Given the description of an element on the screen output the (x, y) to click on. 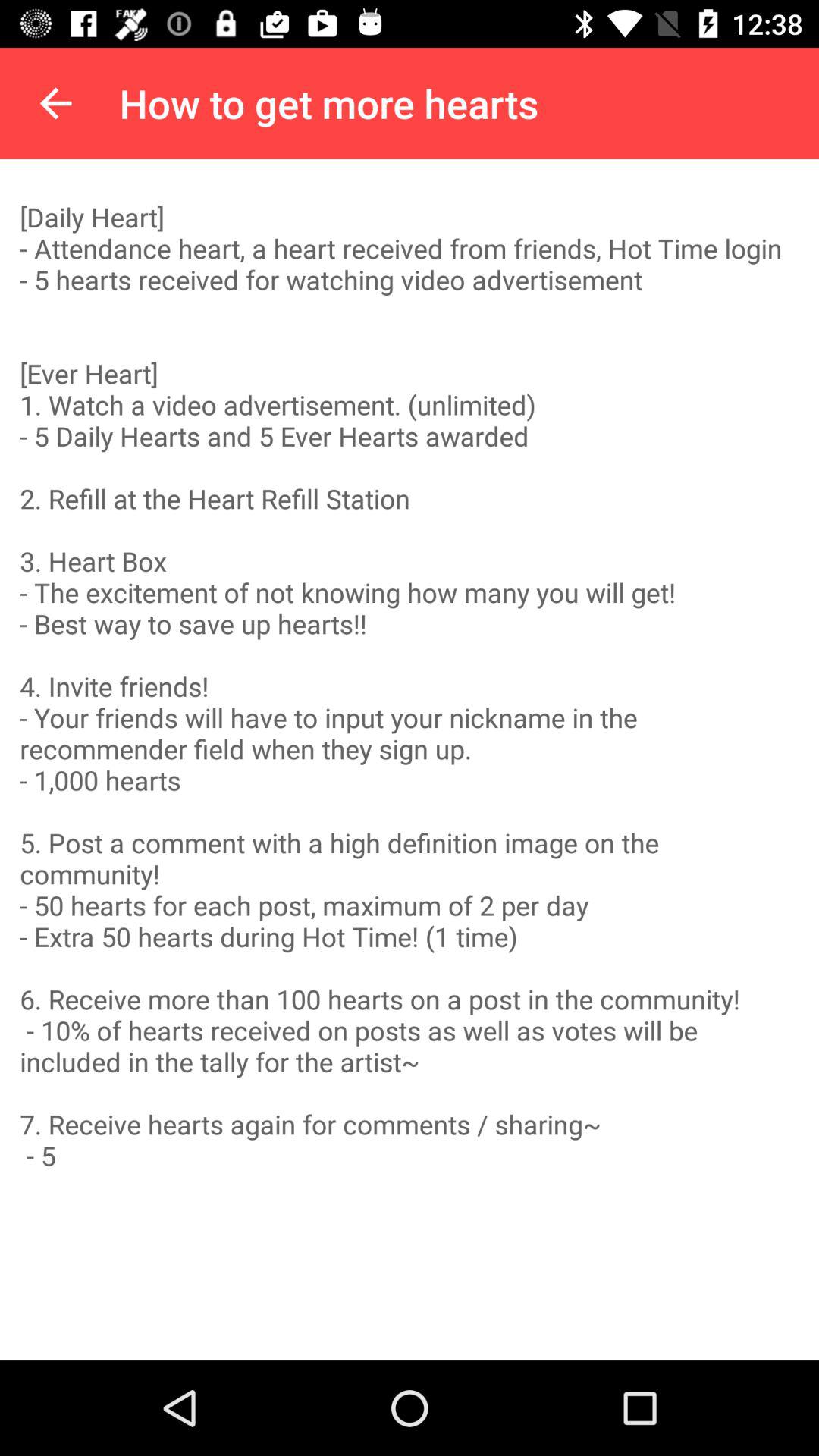
click the icon at the top left corner (55, 103)
